Given the description of an element on the screen output the (x, y) to click on. 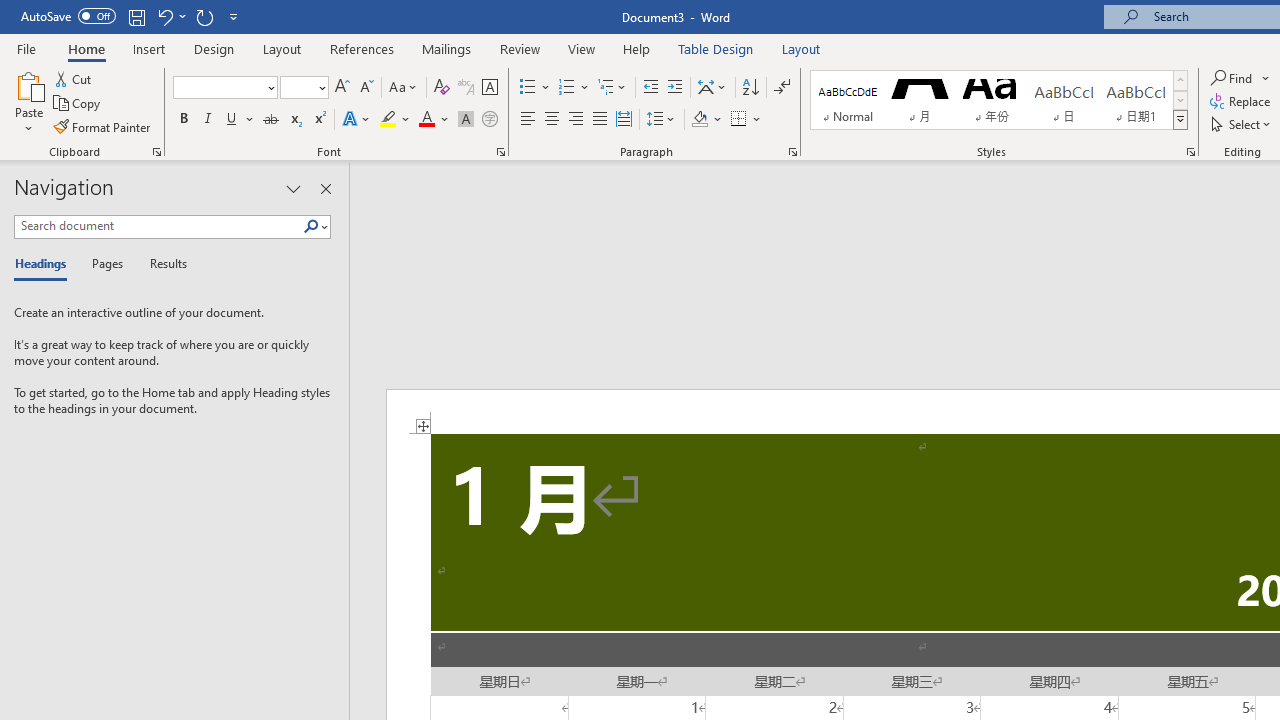
View (582, 48)
Layout (801, 48)
Text Highlight Color (395, 119)
Office Clipboard... (156, 151)
Open (320, 87)
Show/Hide Editing Marks (781, 87)
Table Design (715, 48)
Customize Quick Access Toolbar (234, 15)
Quick Access Toolbar (131, 16)
Strikethrough (270, 119)
File Tab (26, 48)
Design (214, 48)
